Given the description of an element on the screen output the (x, y) to click on. 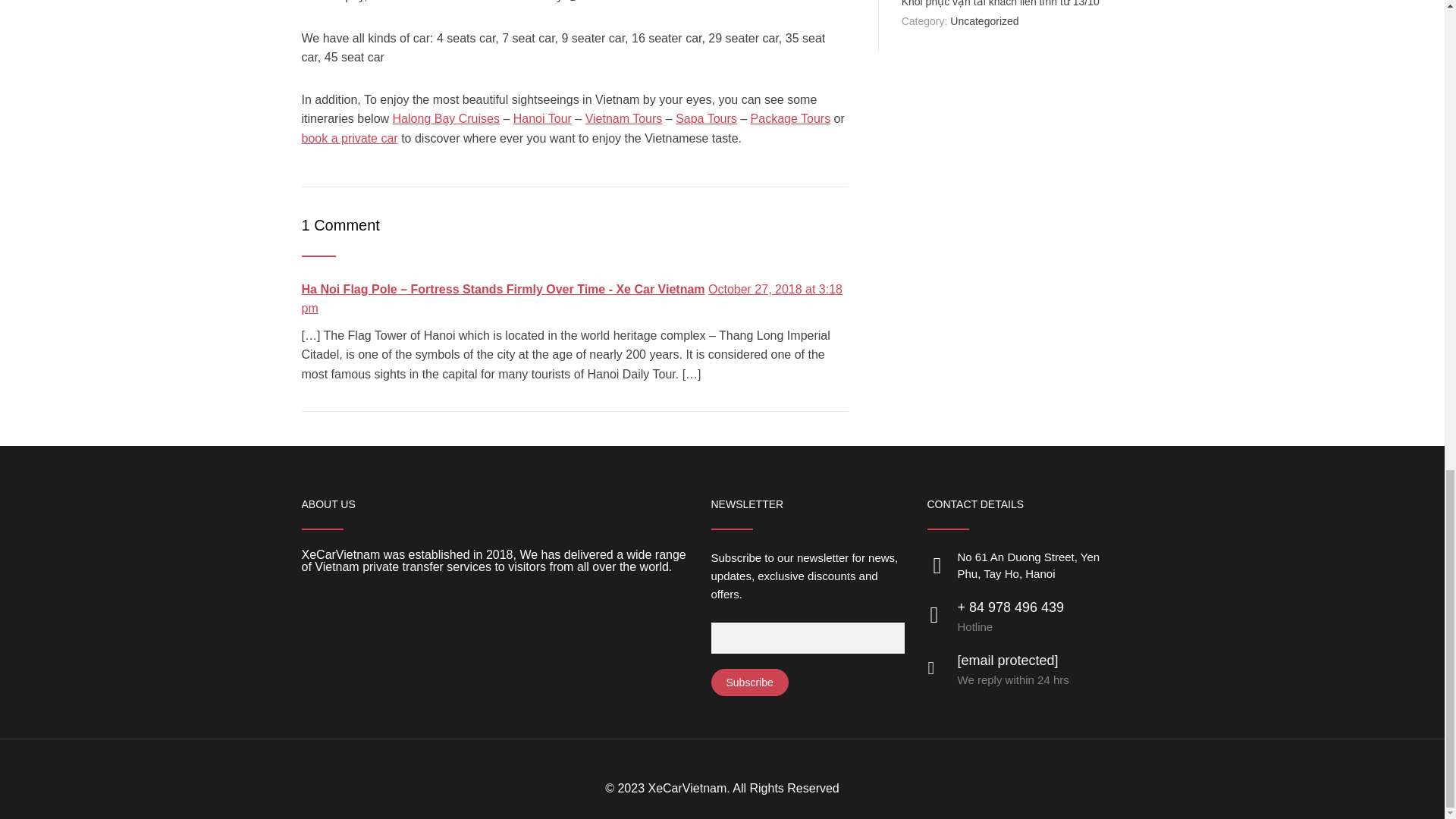
Hanoi Tour (542, 118)
Halong Bay Cruises (446, 118)
Subscribe (750, 682)
